Given the description of an element on the screen output the (x, y) to click on. 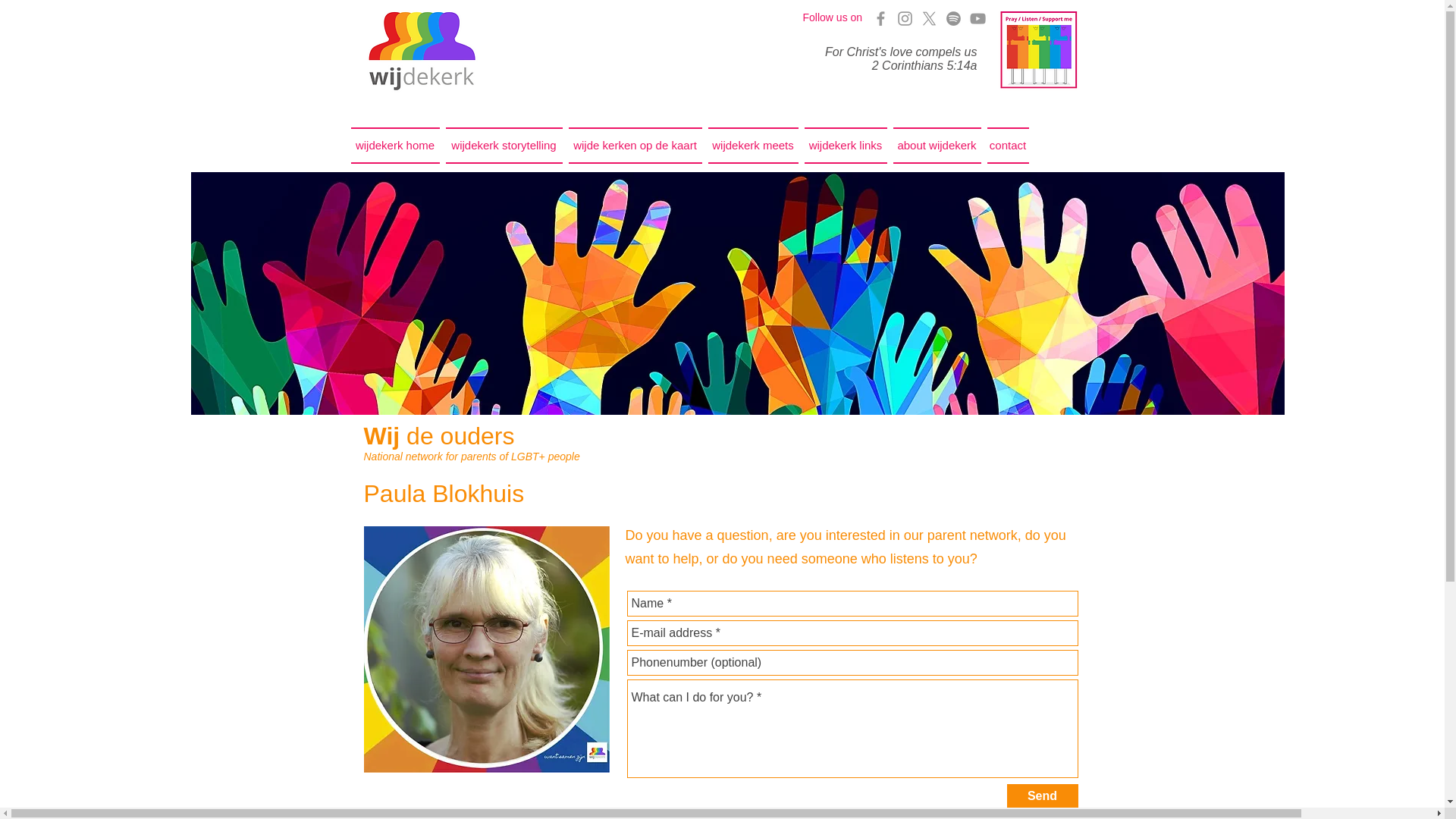
wijdekerk storytelling (504, 145)
wijdekerk meets (753, 145)
wijde kerken op de kaart (635, 145)
wijdekerk home (396, 145)
wijdekerk links (844, 145)
logo-wijdekerk.png (421, 51)
